Given the description of an element on the screen output the (x, y) to click on. 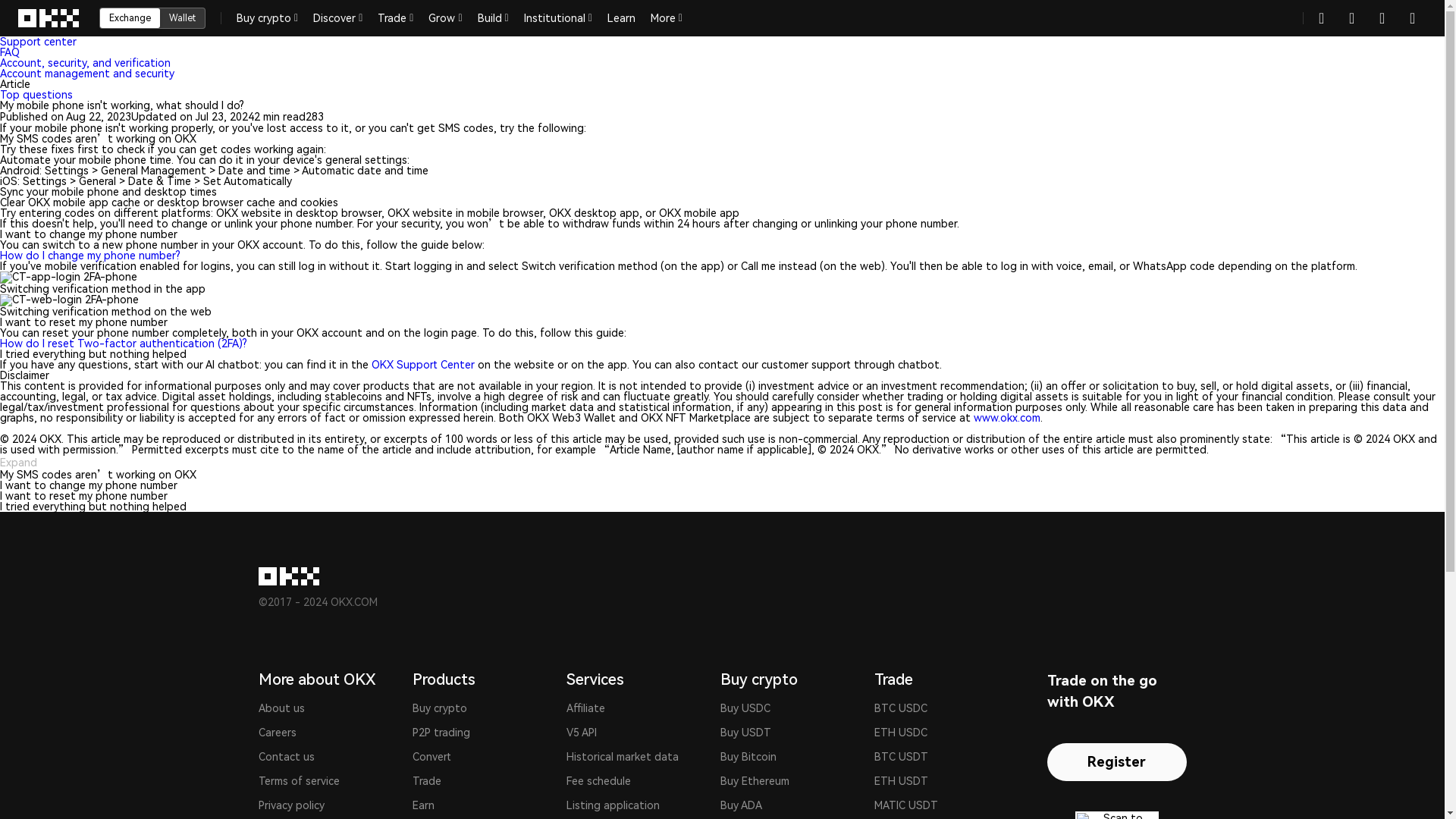
Wallet (182, 17)
Exchange (130, 17)
OKX (48, 17)
